Given the description of an element on the screen output the (x, y) to click on. 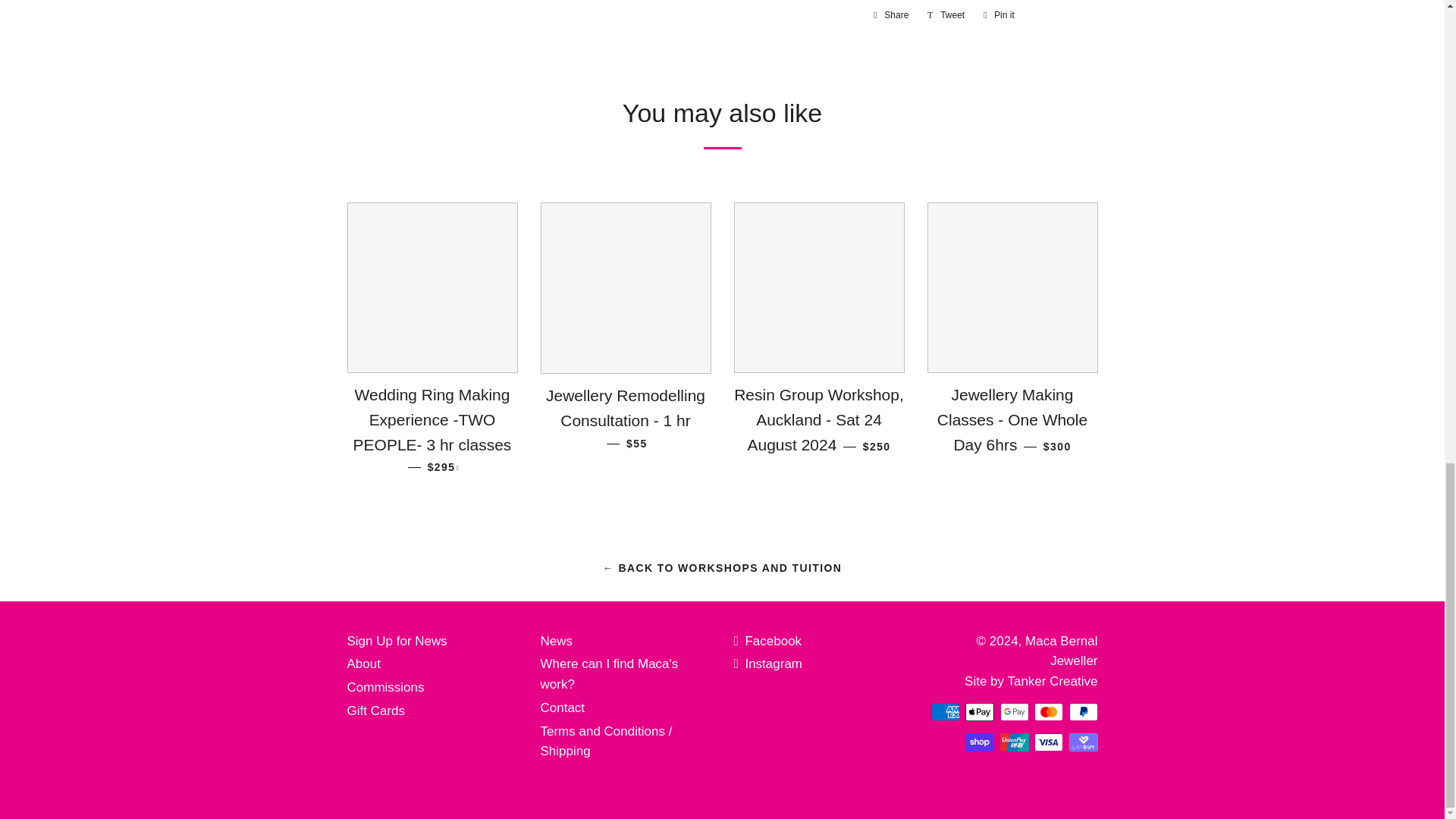
Visa (1047, 742)
Maca Bernal Jeweller on Facebook (767, 640)
Mastercard (1047, 711)
Shop Pay (979, 742)
Apple Pay (979, 711)
Pin on Pinterest (998, 14)
Maca Bernal Jeweller on Instagram (768, 663)
PayPal (1082, 711)
Union Pay (1012, 742)
Tweet on Twitter (946, 14)
Google Pay (1012, 711)
Share on Facebook (890, 14)
American Express (945, 711)
